Given the description of an element on the screen output the (x, y) to click on. 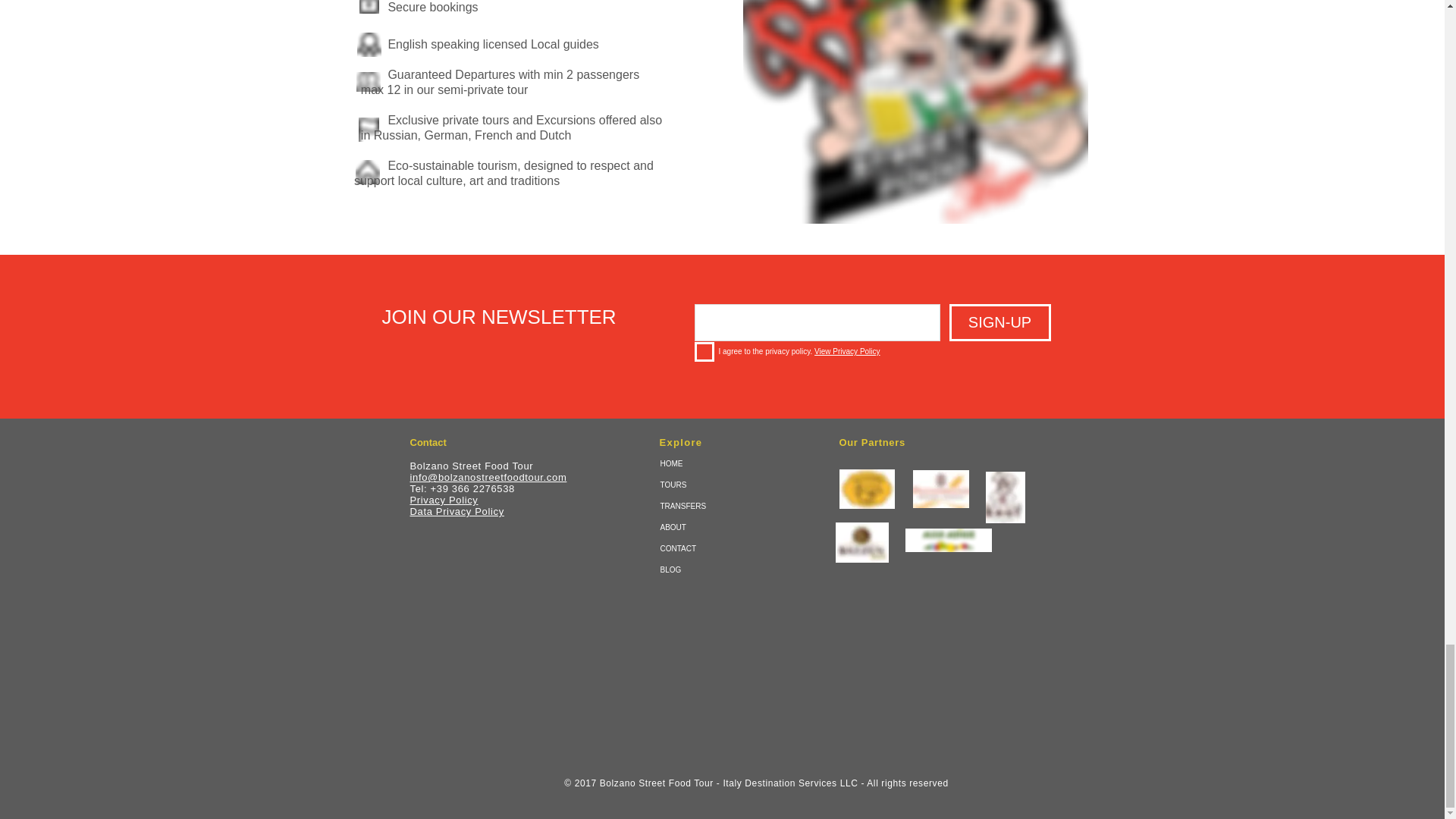
Privacy Policy (443, 500)
HOME (716, 464)
ABOUT (716, 527)
TRANSFERS (716, 506)
BLOG (716, 569)
SIGN-UP (1000, 322)
View Privacy Policy (846, 351)
CONTACT (716, 548)
Data Privacy Policy (456, 511)
